Given the description of an element on the screen output the (x, y) to click on. 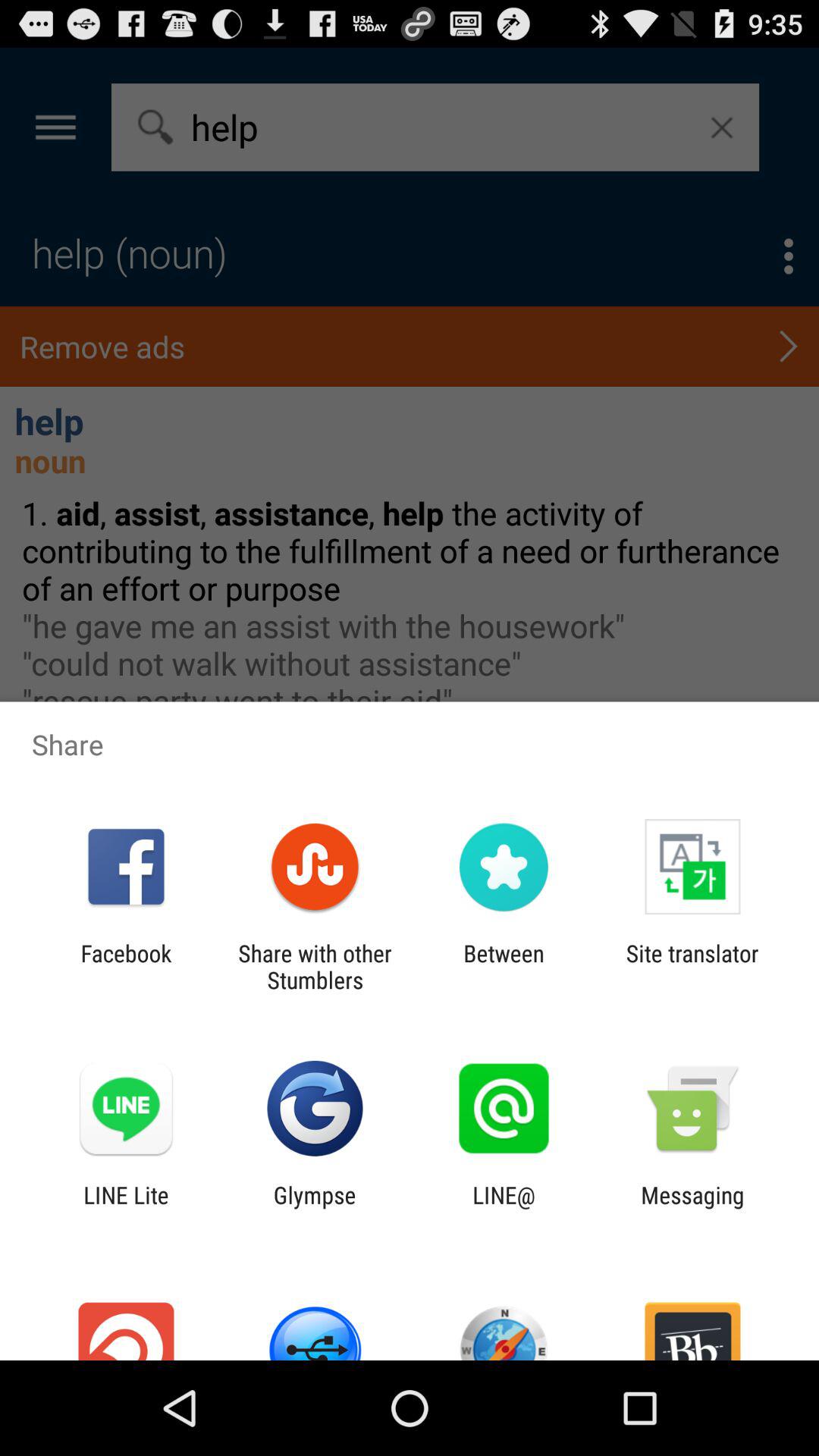
launch the icon to the left of line@ app (314, 1208)
